Given the description of an element on the screen output the (x, y) to click on. 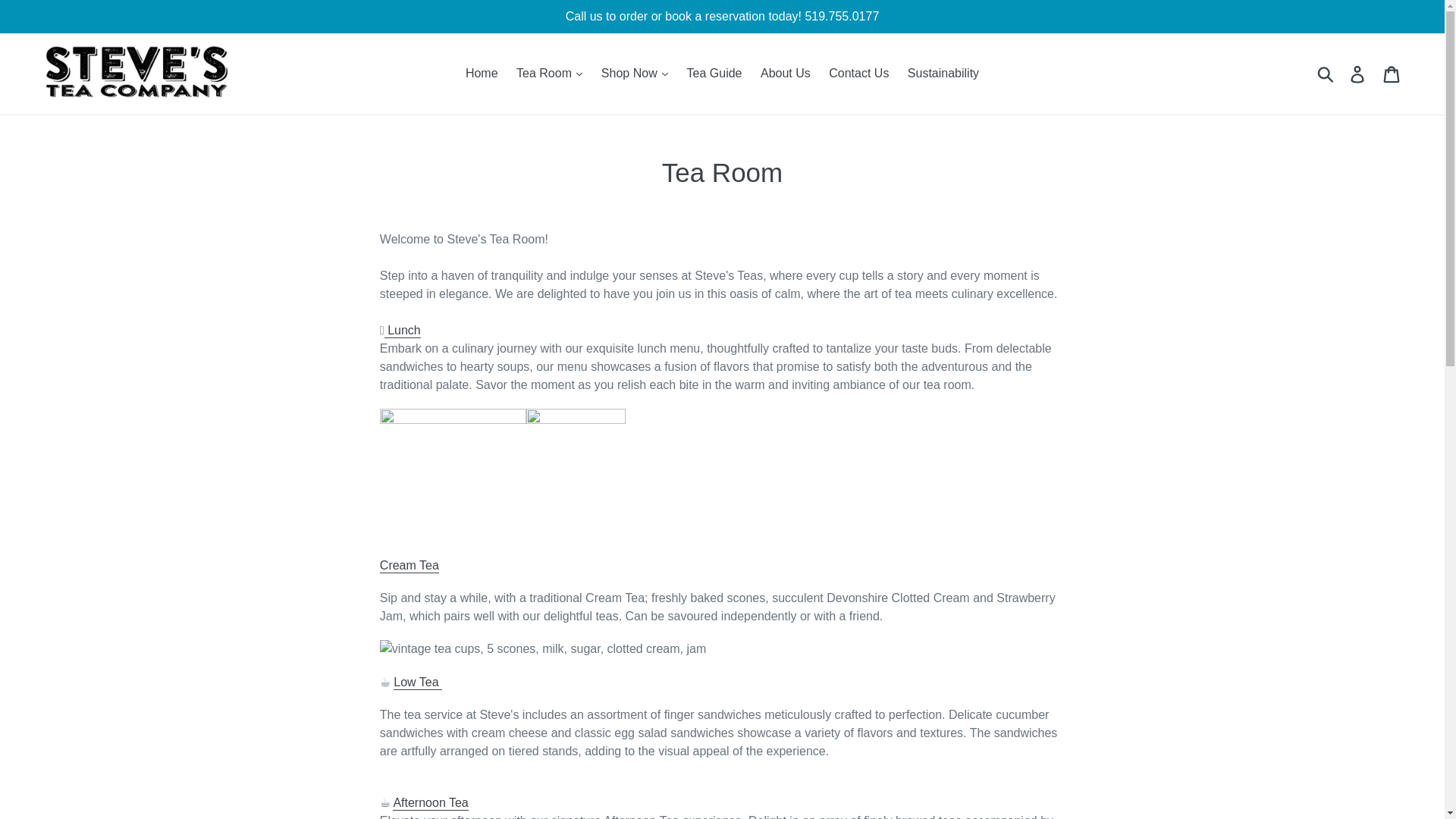
Cream Tea (409, 565)
Log in (1357, 73)
Home (481, 73)
Low Tea (417, 682)
Contact Us (858, 73)
Sustainability (943, 73)
Tea Guide (714, 73)
About Us (785, 73)
Submit (1326, 73)
Lunch (403, 330)
